Given the description of an element on the screen output the (x, y) to click on. 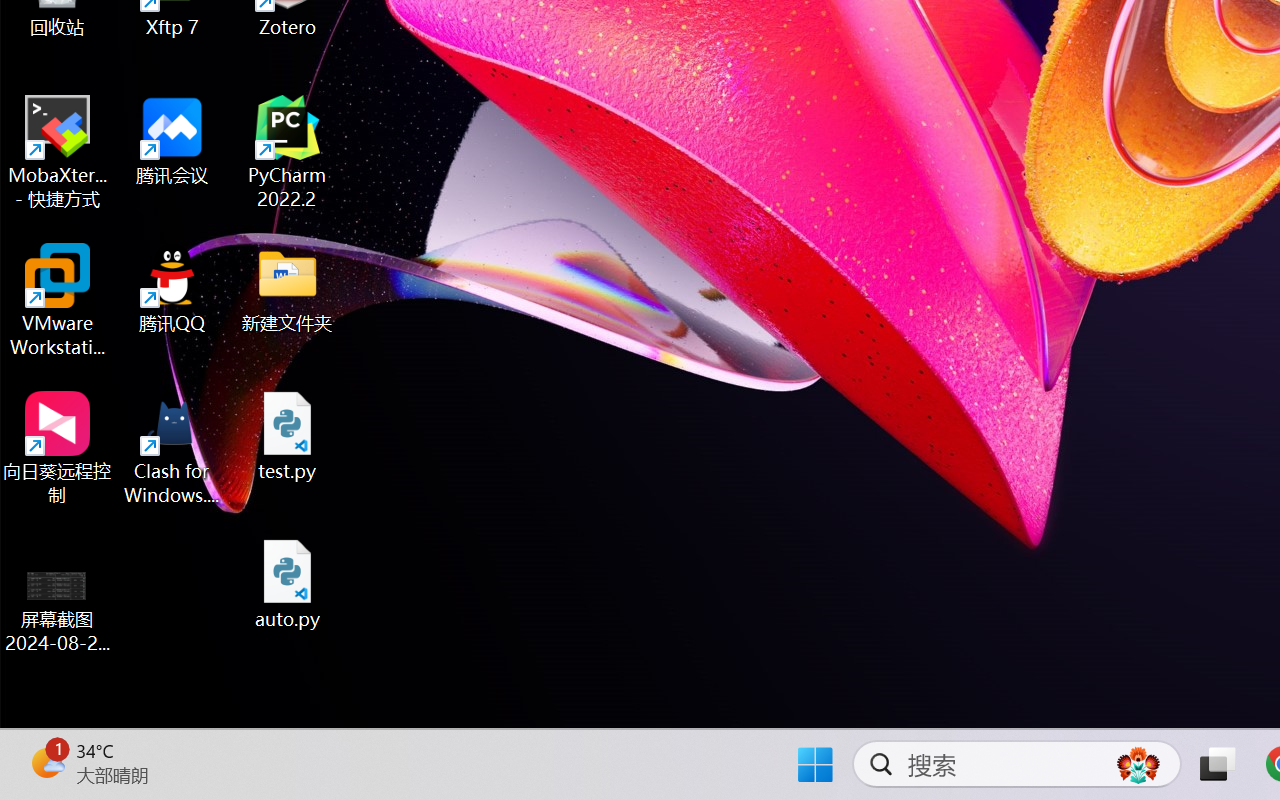
VMware Workstation Pro (57, 300)
PyCharm 2022.2 (287, 152)
test.py (287, 436)
auto.py (287, 584)
